Given the description of an element on the screen output the (x, y) to click on. 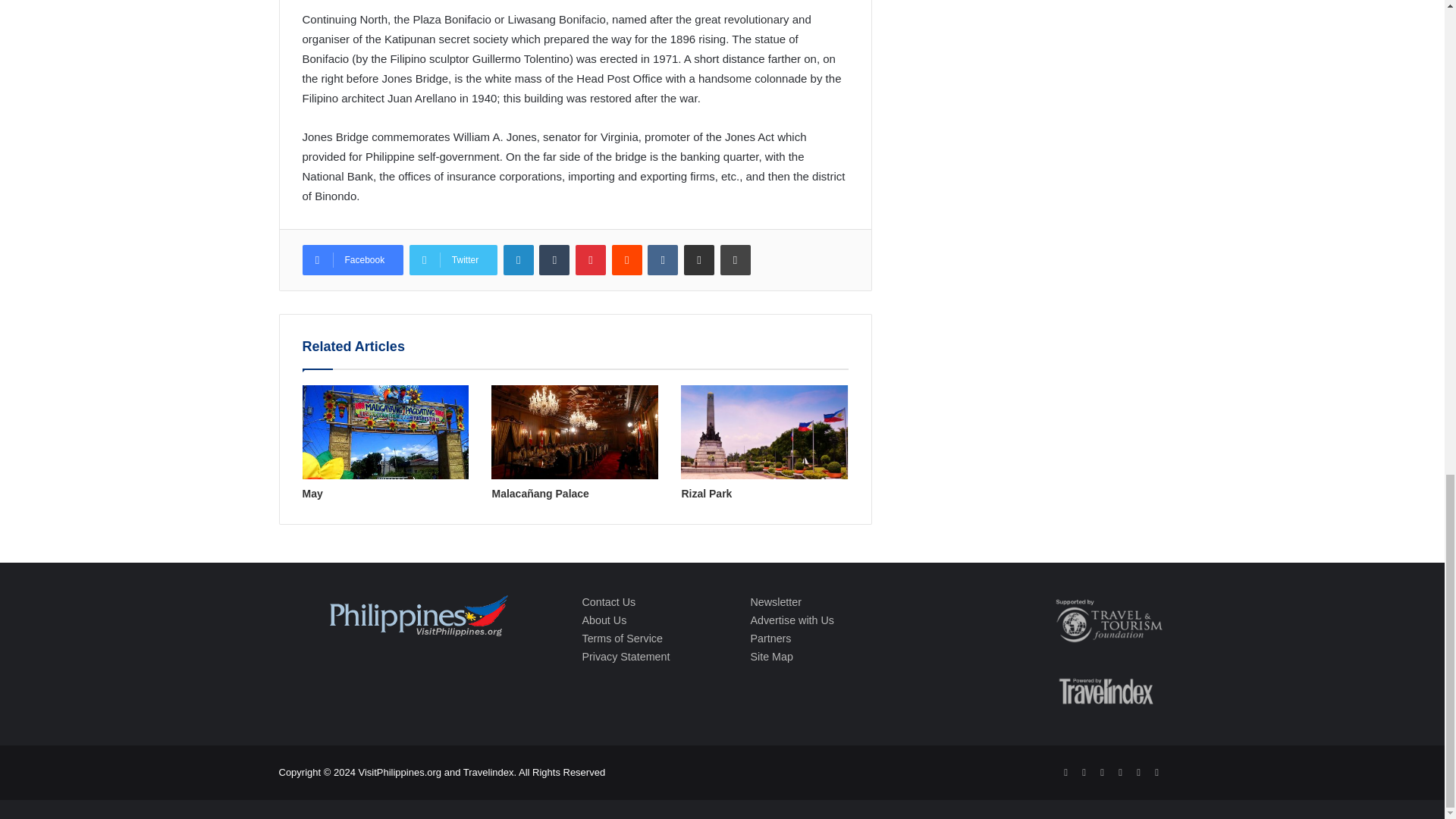
Pinterest (590, 259)
Reddit (626, 259)
Tumblr (553, 259)
LinkedIn (518, 259)
VKontakte (662, 259)
Share via Email (699, 259)
Facebook (352, 259)
Print (735, 259)
Twitter (453, 259)
